Given the description of an element on the screen output the (x, y) to click on. 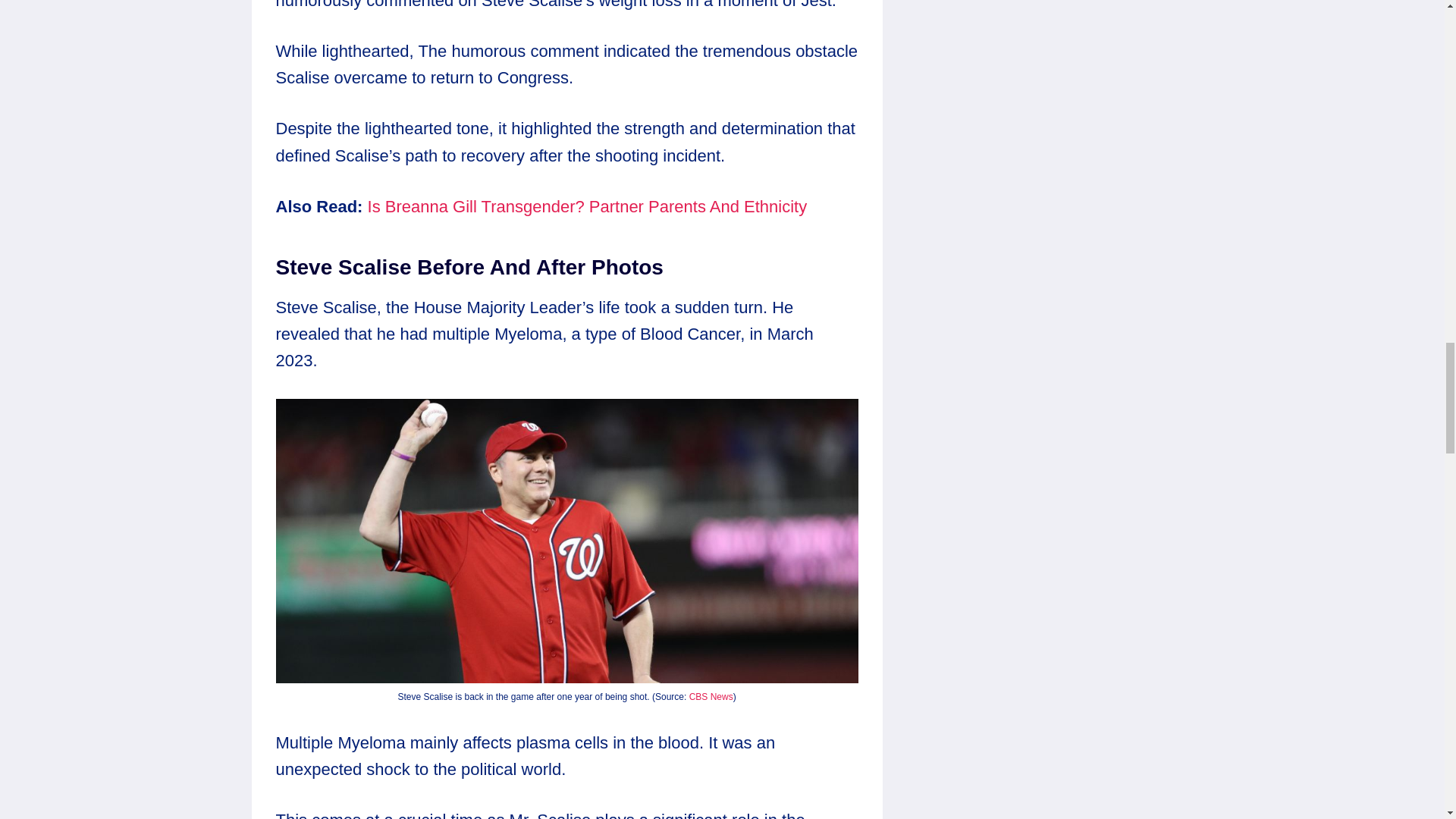
Is Breanna Gill Transgender? Partner Parents And Ethnicity (588, 206)
CBS News (710, 696)
